Given the description of an element on the screen output the (x, y) to click on. 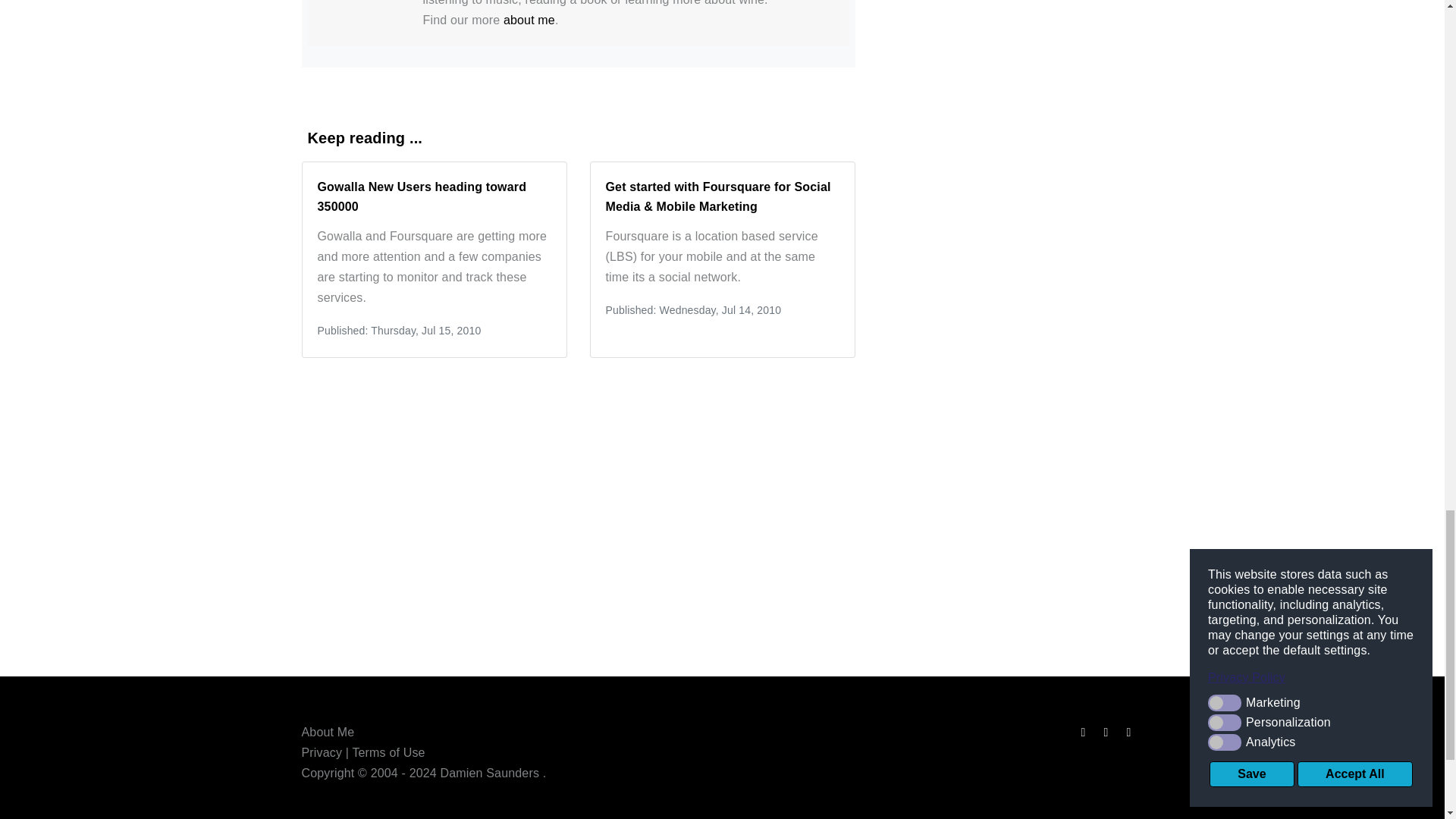
Gowalla New Users heading toward 350000 (421, 196)
Privacy (321, 752)
About Me (328, 730)
about me (528, 19)
